Given the description of an element on the screen output the (x, y) to click on. 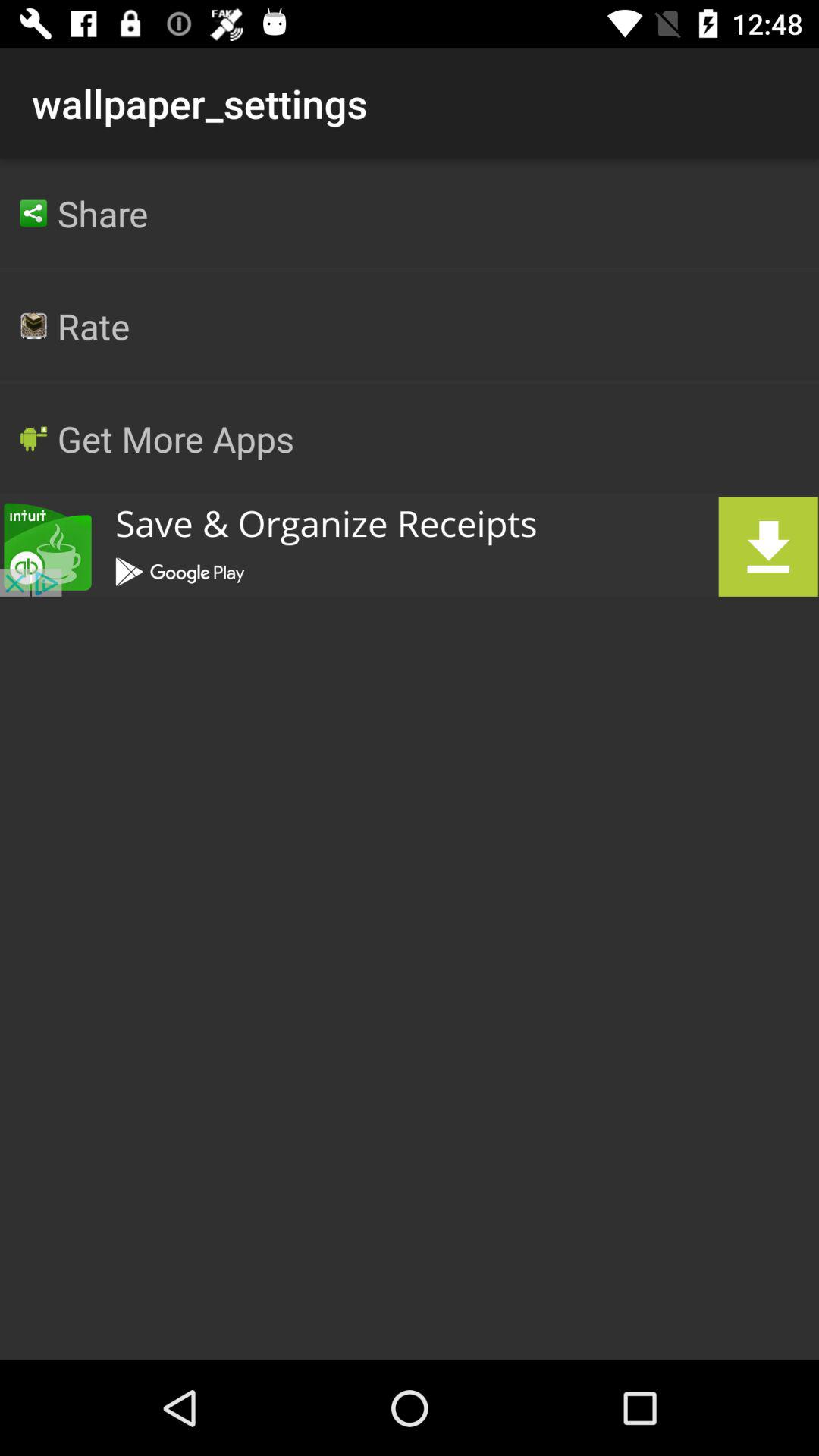
go to advertisement link (409, 546)
